Given the description of an element on the screen output the (x, y) to click on. 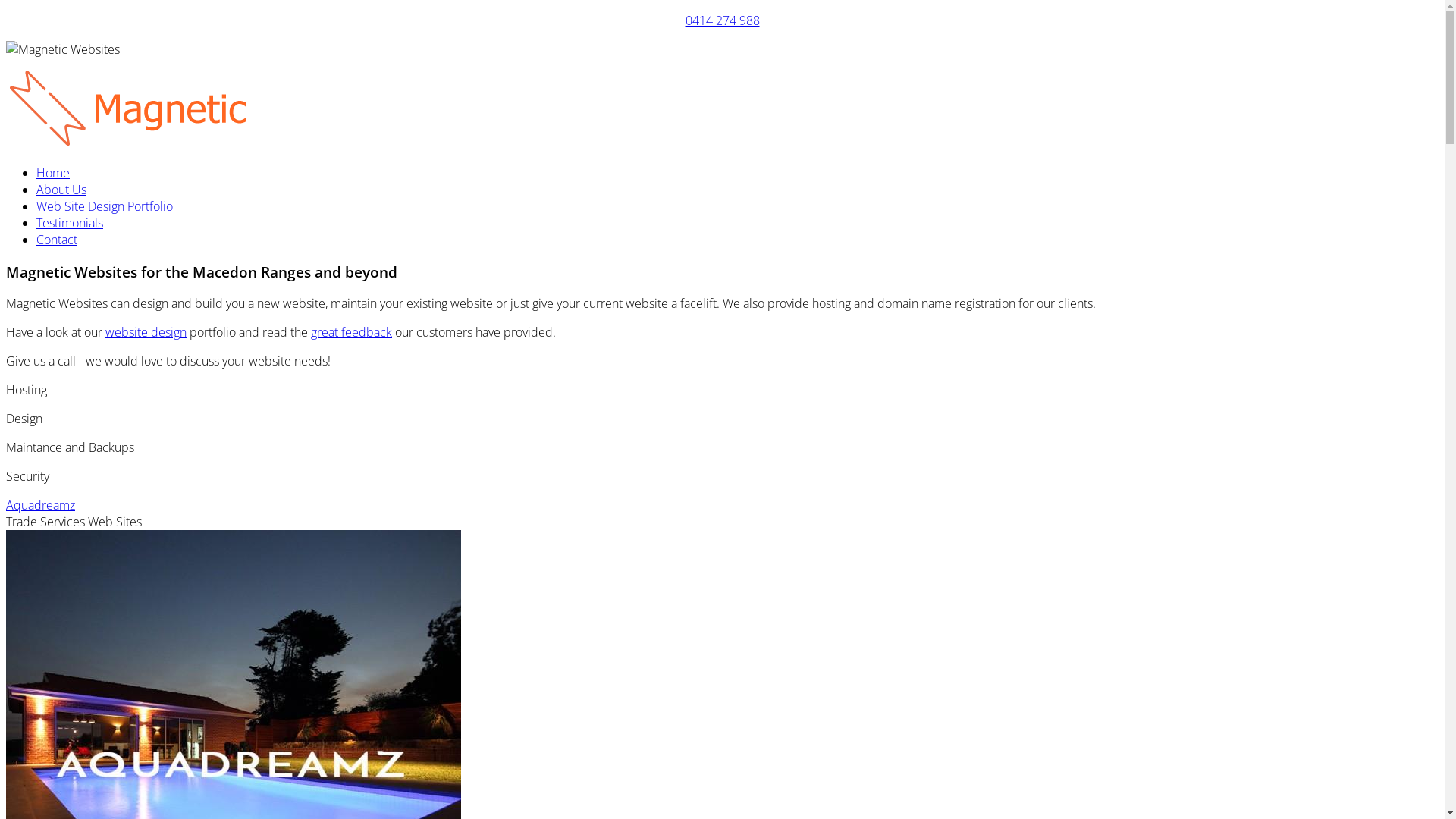
Aquadreamz Element type: text (40, 504)
website design Element type: text (145, 331)
Web Site Design Portfolio Element type: text (104, 205)
Contact Element type: text (56, 239)
Testimonials Element type: text (69, 222)
Home Element type: text (52, 172)
Magnetic Websites Element type: hover (214, 108)
About Us Element type: text (61, 189)
0414 274 988 Element type: text (722, 20)
great feedback Element type: text (351, 331)
